Given the description of an element on the screen output the (x, y) to click on. 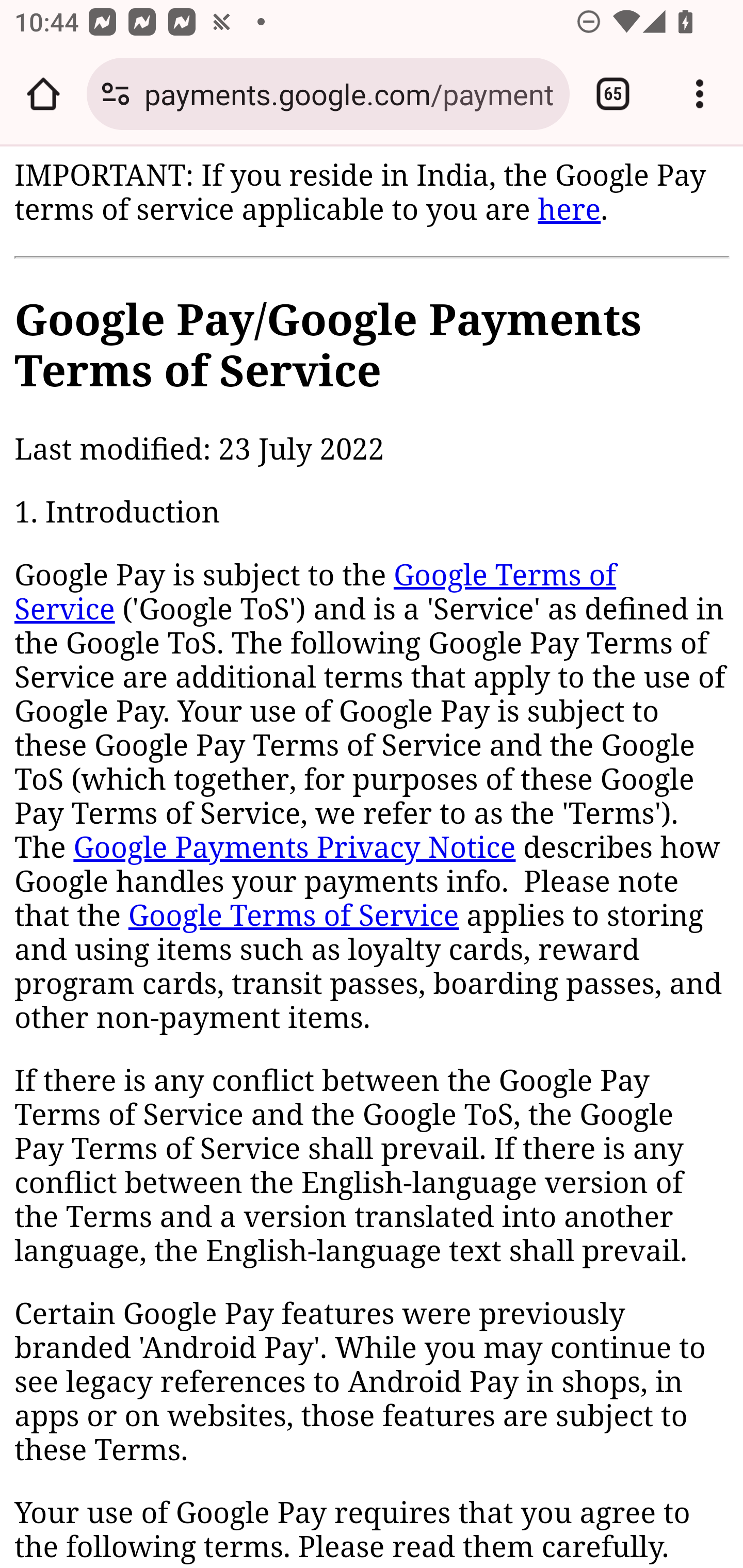
Open the home page (43, 93)
Connection is secure (115, 93)
Switch or close tabs (612, 93)
Customize and control Google Chrome (699, 93)
here (568, 209)
Google Terms of Service (315, 593)
Google Payments Privacy Notice (294, 849)
Google Terms of Service (292, 916)
